Given the description of an element on the screen output the (x, y) to click on. 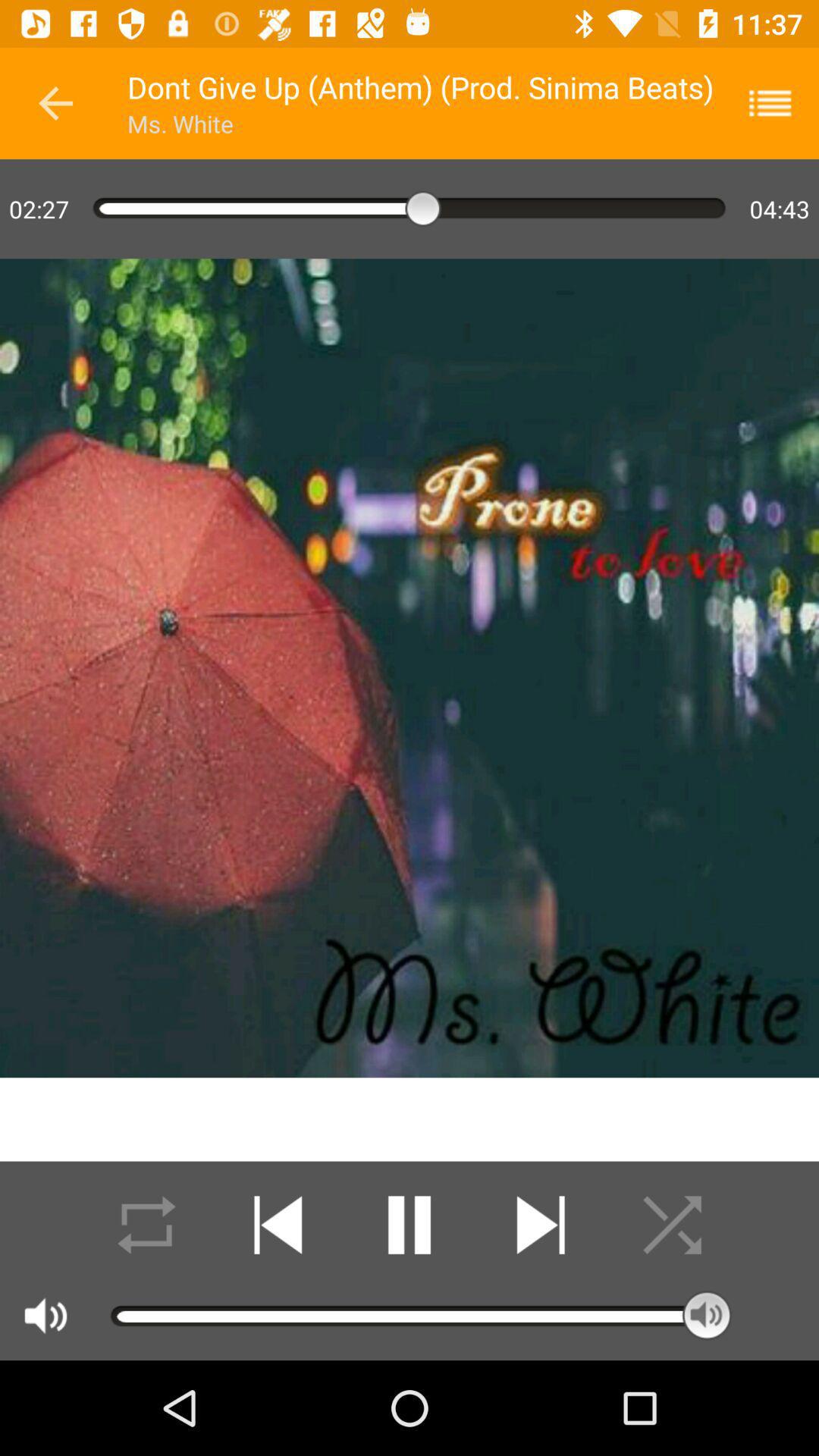
go to track list (779, 103)
